Given the description of an element on the screen output the (x, y) to click on. 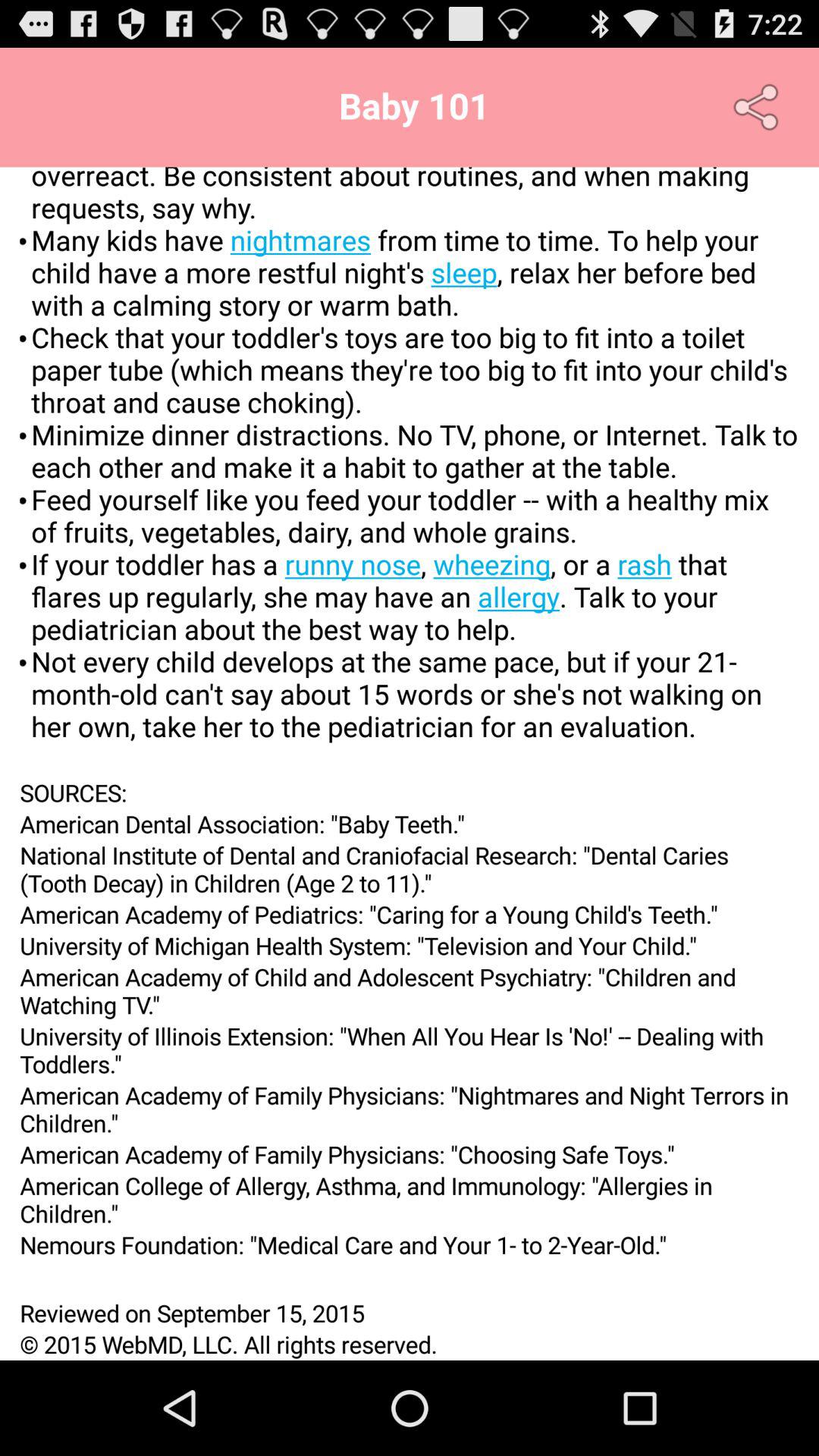
click the item above the reviewed on september (409, 1278)
